Given the description of an element on the screen output the (x, y) to click on. 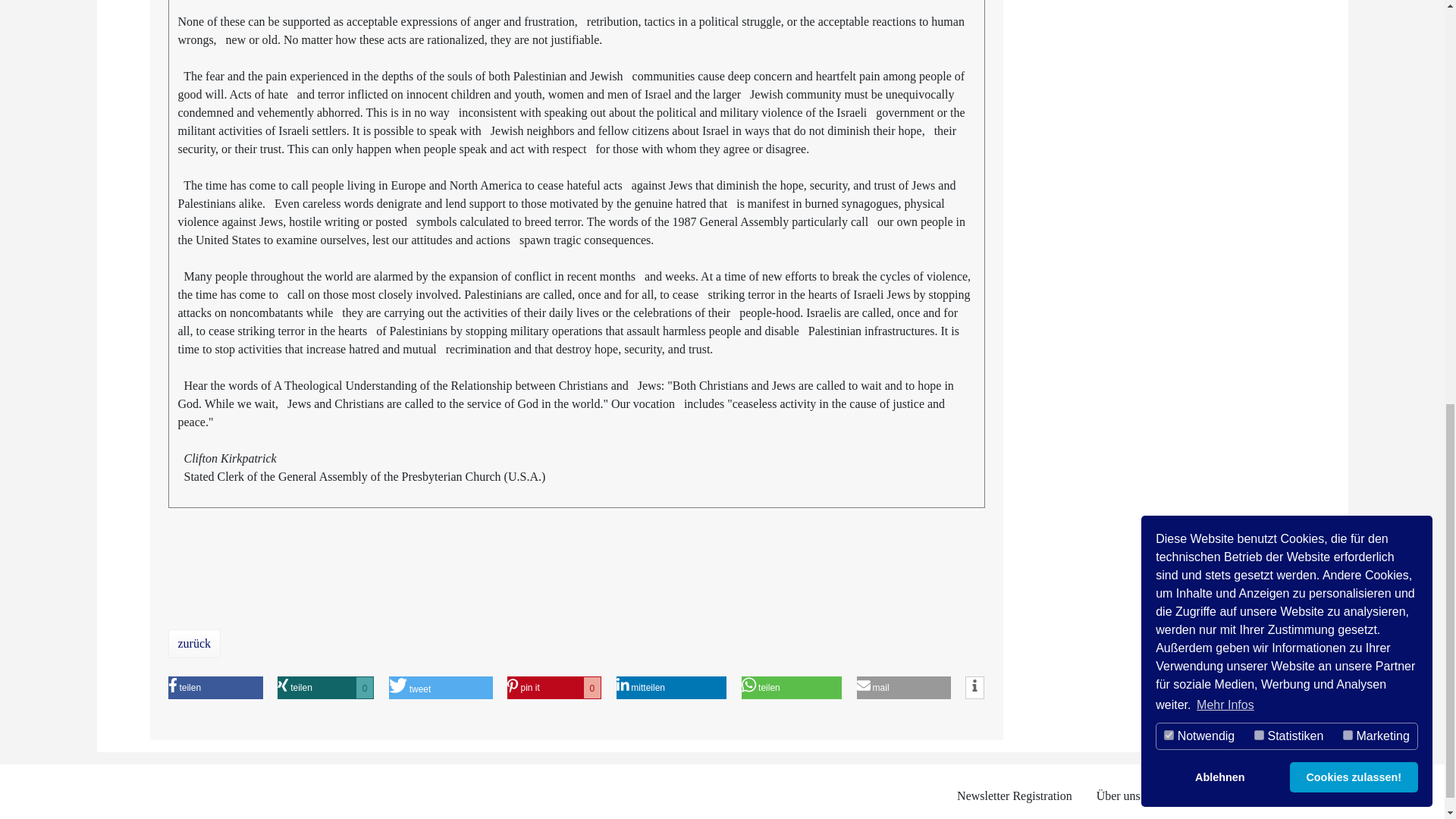
Bei Whatsapp teilen (762, 687)
Bei Twitter teilen (126, 687)
Bei Facebook teilen (395, 687)
mail (157, 687)
Per E-Mail versenden (773, 687)
mitteilen (876, 687)
Bei Pinterest pinnen (516, 687)
teilen (385, 687)
Bei XING teilen (515, 687)
Bei LinkedIn teilen (642, 687)
tweet (275, 687)
